Given the description of an element on the screen output the (x, y) to click on. 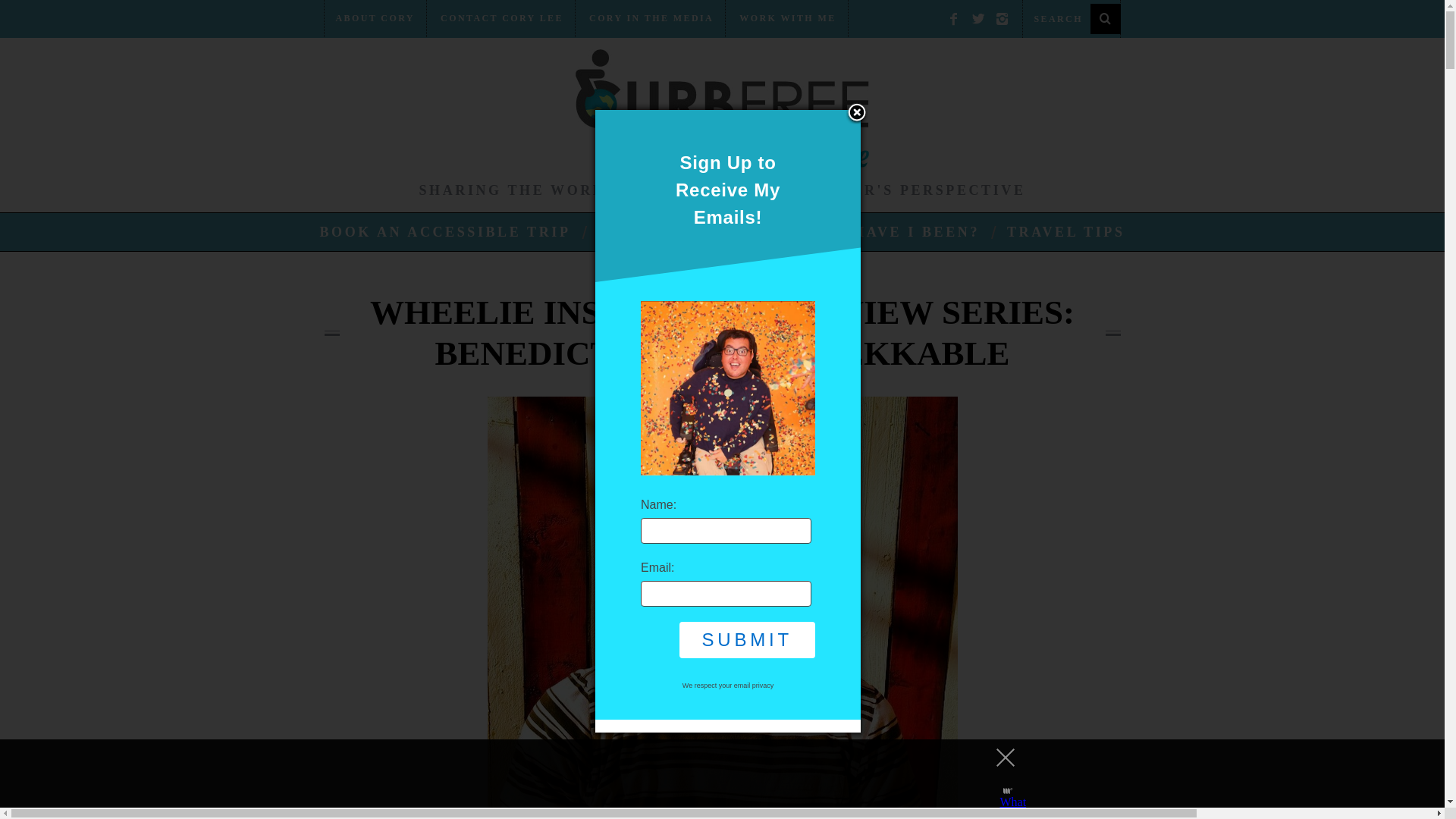
Submit (747, 639)
Search (1071, 18)
Privacy Policy (753, 685)
3rd party ad content (708, 773)
